Given the description of an element on the screen output the (x, y) to click on. 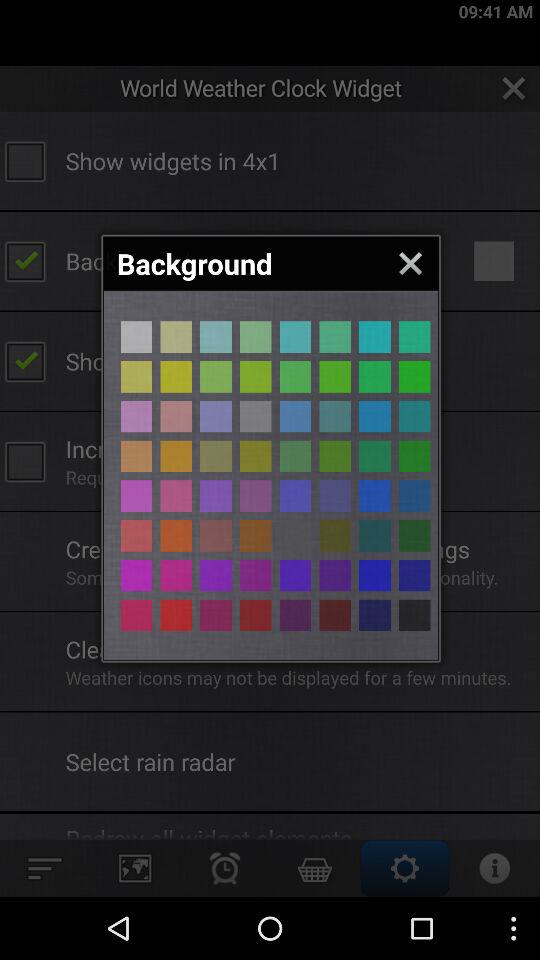
different colour pages (136, 615)
